Given the description of an element on the screen output the (x, y) to click on. 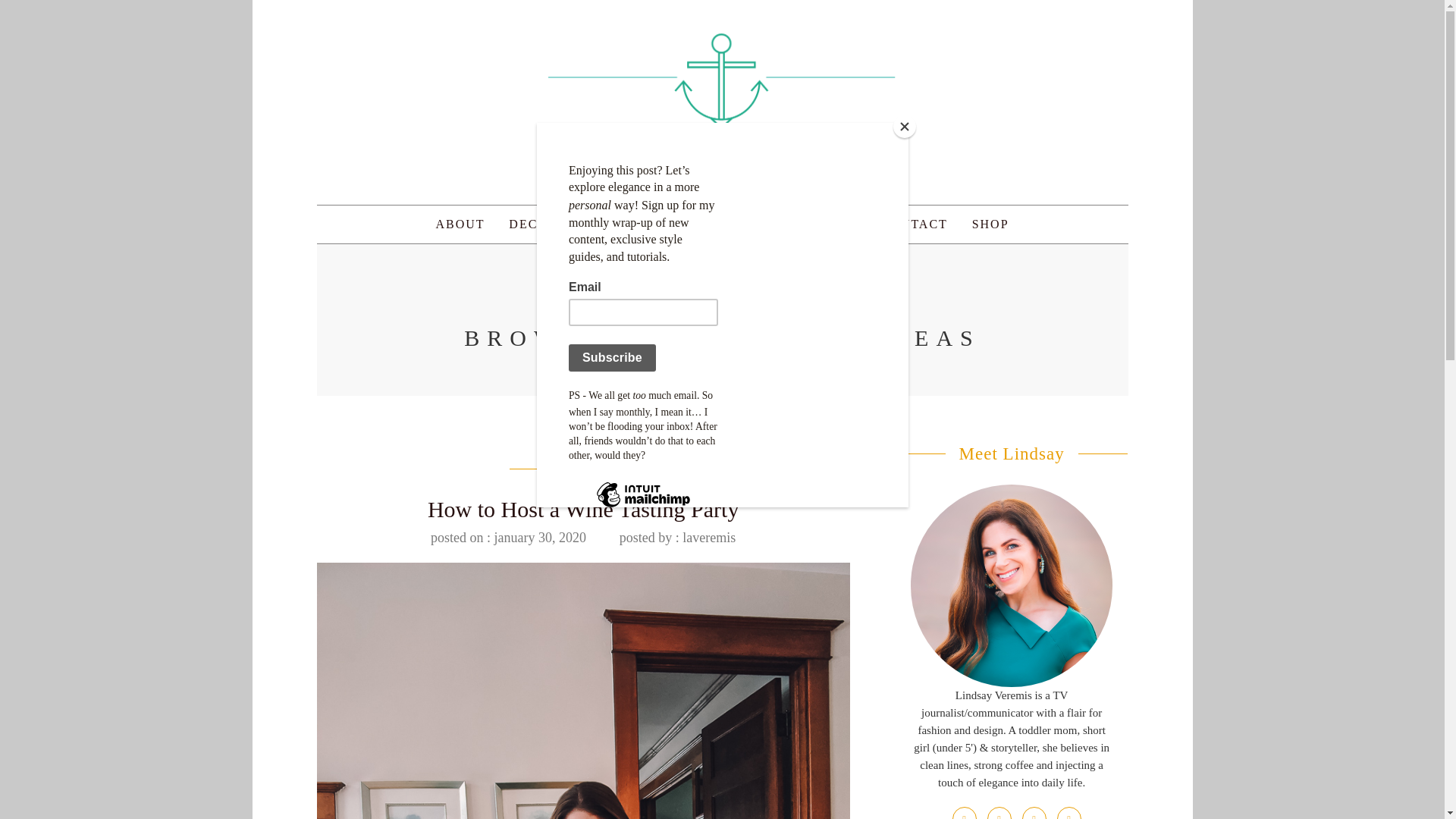
NEWS LIFE (706, 224)
ABOUT (460, 224)
Adventure (583, 468)
CONTACT (914, 224)
ADVENTURE (812, 224)
SHOP (990, 224)
DECOR (533, 224)
FASHION (612, 224)
How to Host a Wine Tasting Party (583, 508)
posted by : laveremis (677, 537)
posted on : january 30, 2020 (508, 537)
